Given the description of an element on the screen output the (x, y) to click on. 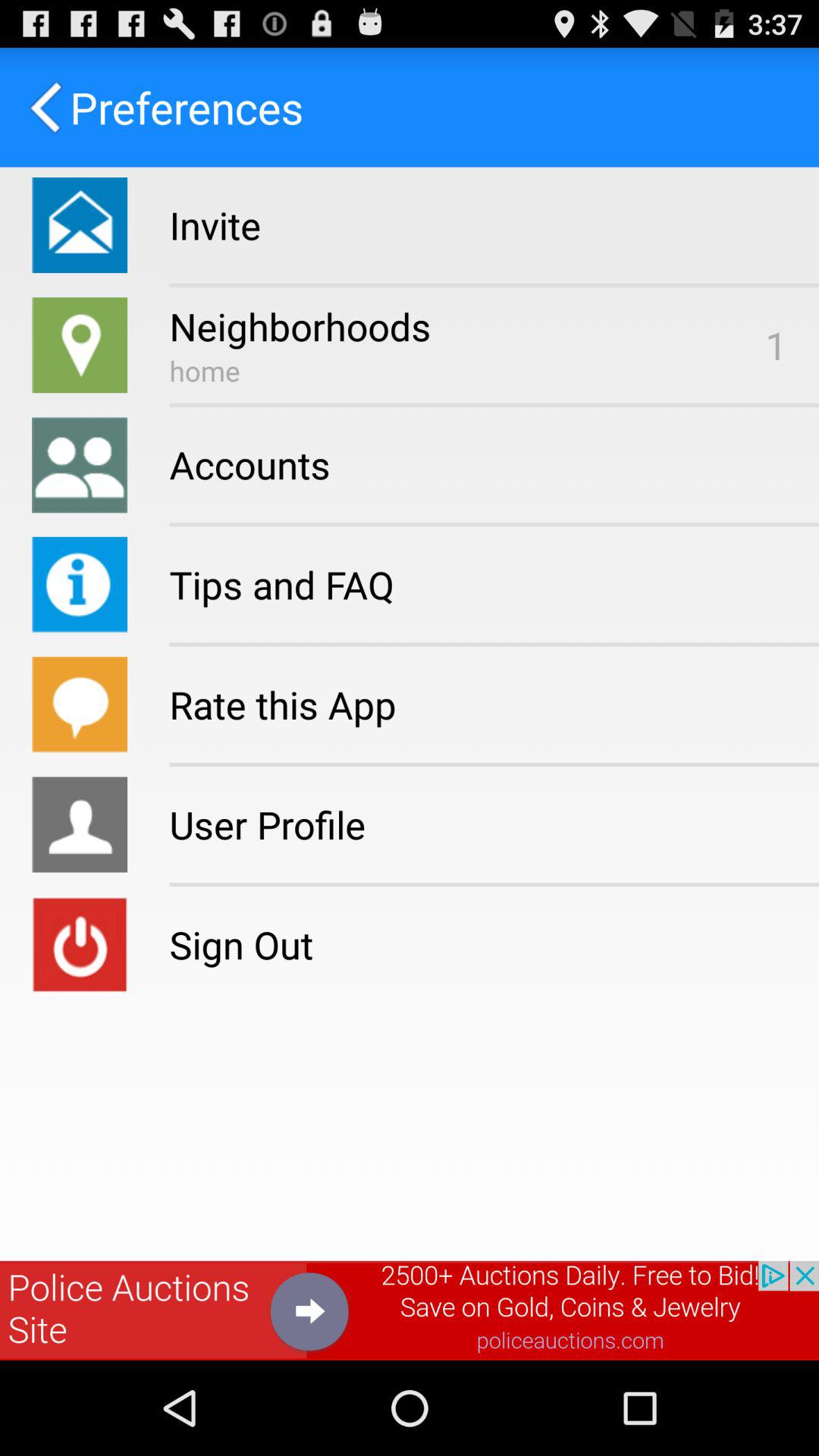
click add (409, 1310)
